Given the description of an element on the screen output the (x, y) to click on. 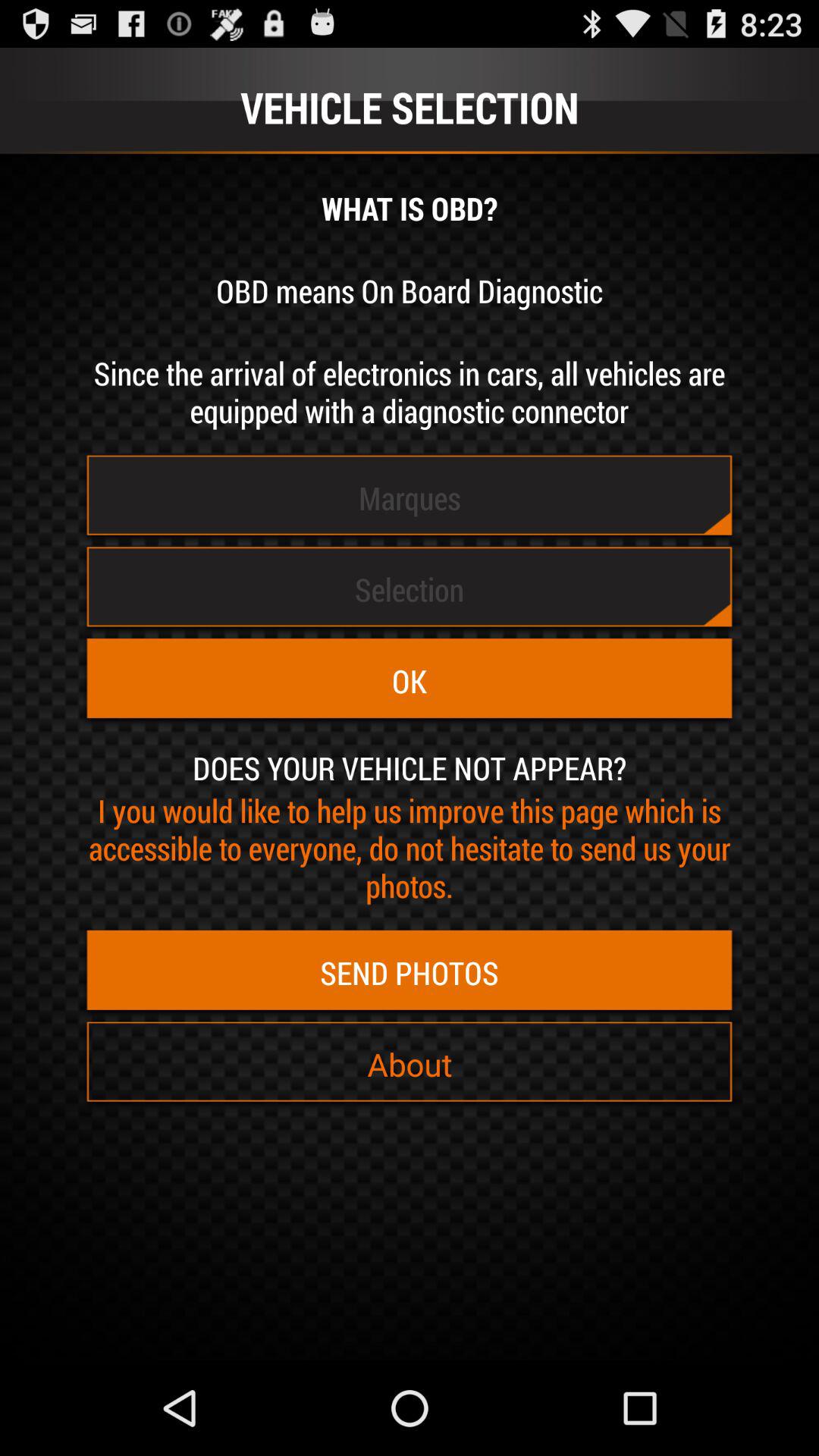
open the item below since the arrival (409, 497)
